Given the description of an element on the screen output the (x, y) to click on. 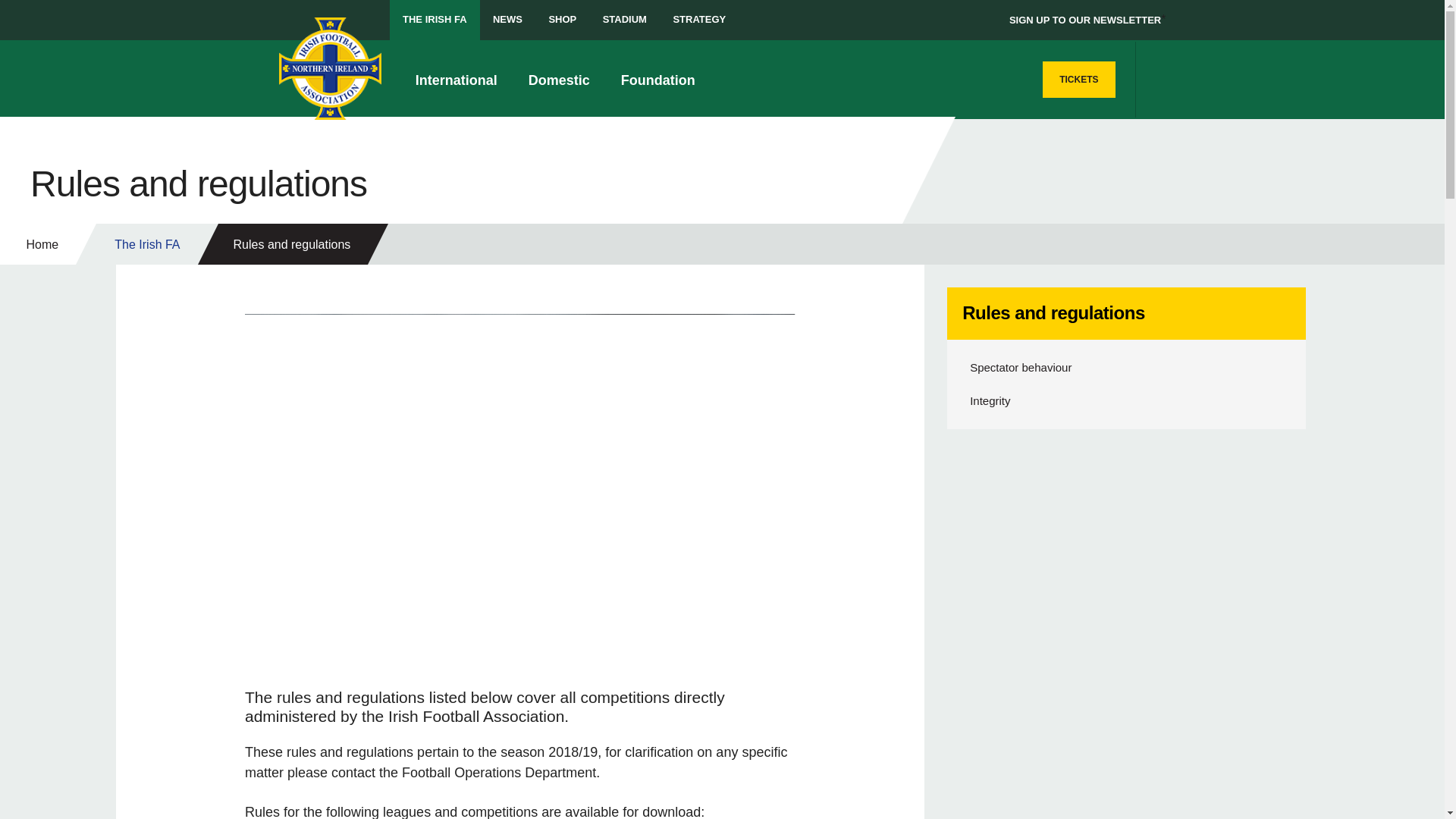
Domestic  (563, 79)
Foundation  (662, 79)
STRATEGY (698, 20)
NEWS (507, 20)
STADIUM (624, 20)
SHOP (562, 20)
International  (460, 79)
SIGN UP TO OUR NEWSLETTER (1084, 19)
THE IRISH FA (435, 20)
